Given the description of an element on the screen output the (x, y) to click on. 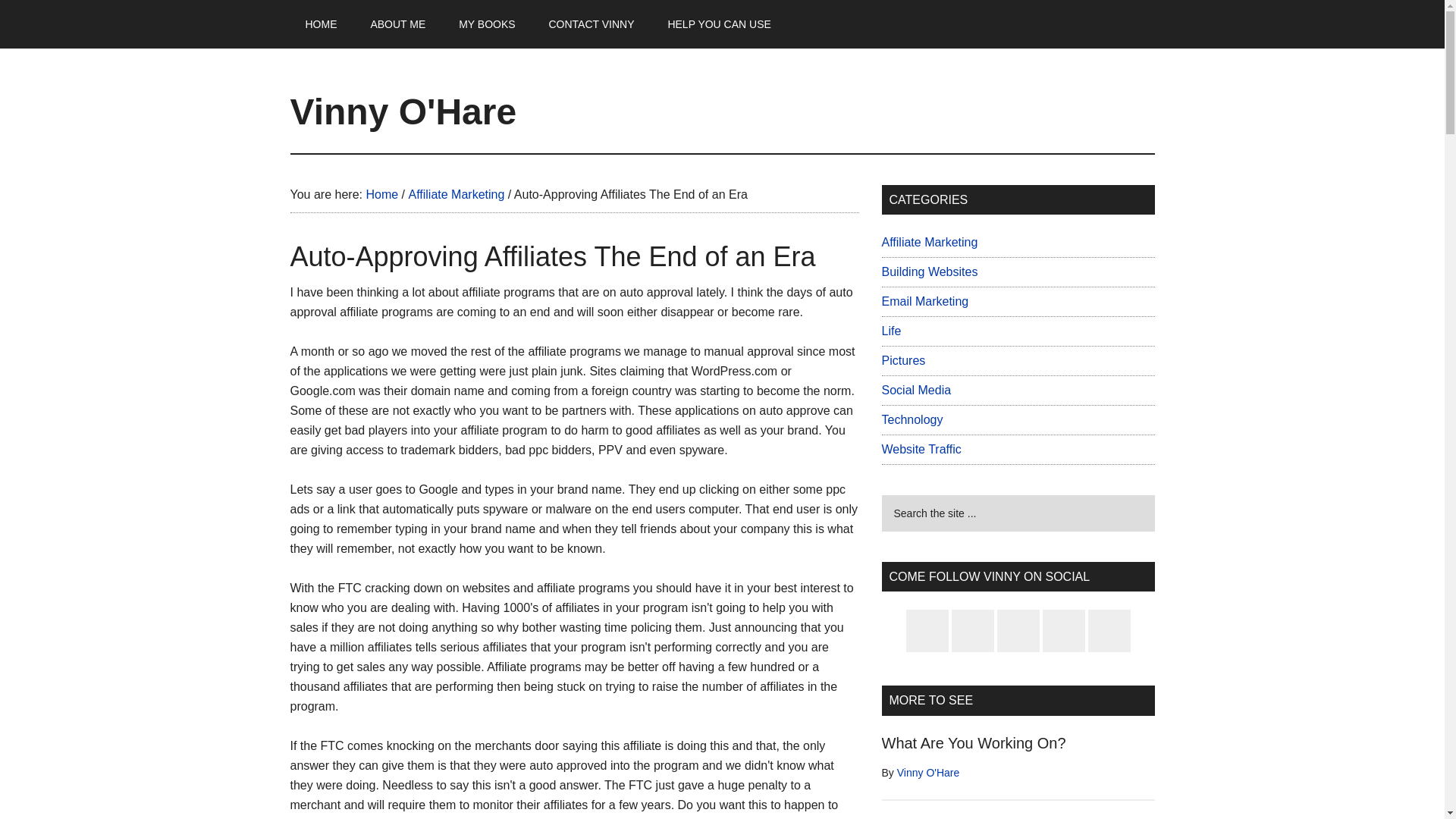
Website Traffic (920, 449)
Vinny O'Hare (402, 111)
Affiliate Marketing (928, 241)
Life (890, 330)
ABOUT ME (398, 24)
Building Websites (928, 271)
Social Media (915, 390)
Pictures (902, 359)
Vinny O'Hare (927, 772)
Email Marketing (924, 300)
What Are You Working On? (972, 742)
Home (381, 194)
